Given the description of an element on the screen output the (x, y) to click on. 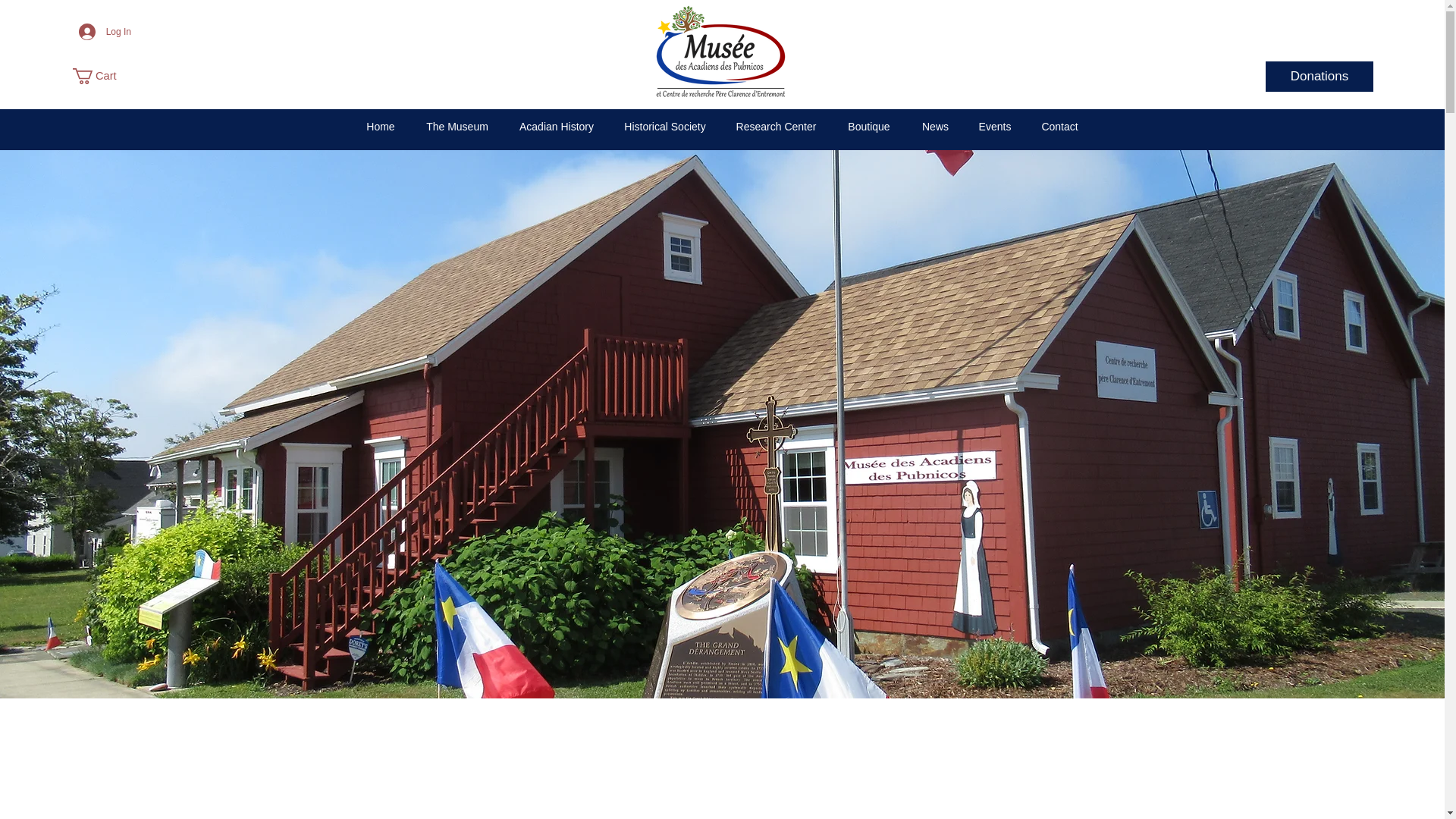
Cart (102, 75)
Historical Society (665, 126)
Acadian History (555, 126)
Research Center (775, 126)
Donations (1319, 76)
Cart (102, 75)
Boutique (868, 126)
Contact (1059, 126)
Events (994, 126)
Log In (104, 31)
